Given the description of an element on the screen output the (x, y) to click on. 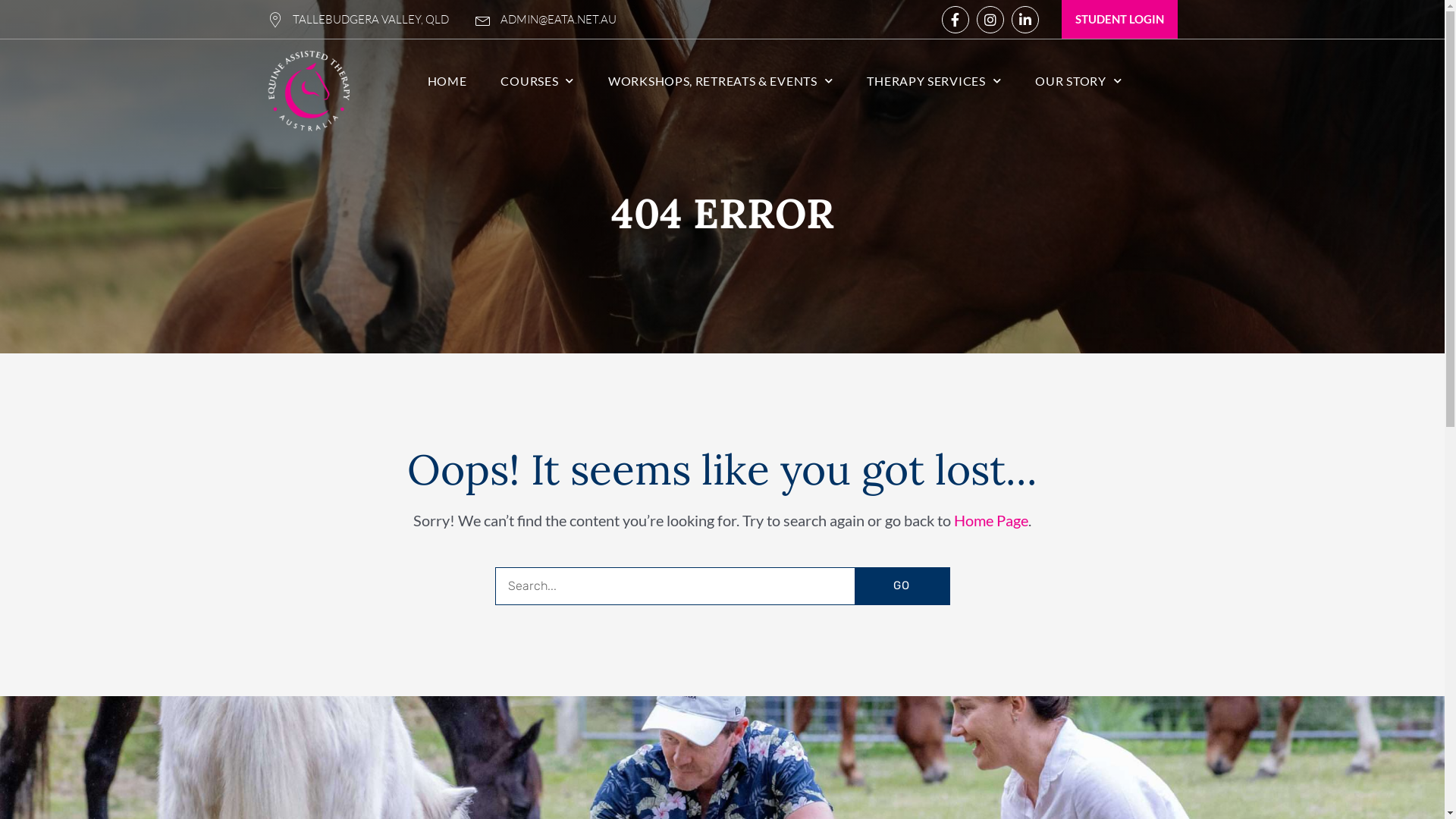
STUDENT LOGIN Element type: text (1119, 19)
Instagram Element type: text (990, 19)
Facebook-f Element type: text (955, 19)
Linkedin-in Element type: text (1024, 19)
GO Element type: text (900, 585)
COURSES Element type: text (536, 80)
OUR STORY Element type: text (1078, 80)
HOME Element type: text (446, 80)
Home Page Element type: text (990, 520)
TALLEBUDGERA VALLEY, QLD Element type: text (357, 19)
THERAPY SERVICES Element type: text (933, 80)
WORKSHOPS, RETREATS & EVENTS Element type: text (720, 80)
ADMIN@EATA.NET.AU Element type: text (544, 19)
